Given the description of an element on the screen output the (x, y) to click on. 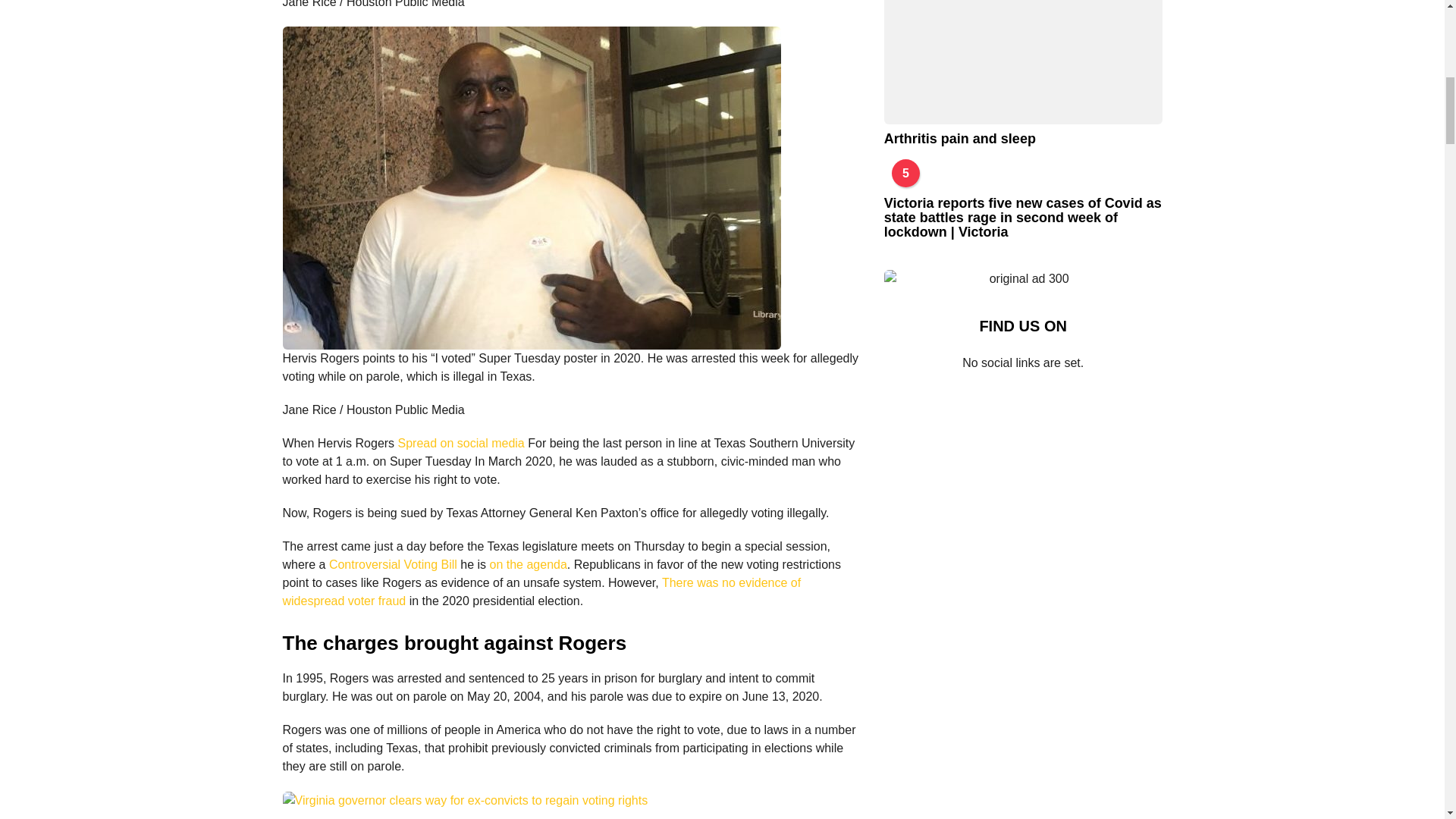
Spread on social media (460, 442)
on the agenda (528, 563)
Controversial Voting Bill (393, 563)
There was no evidence of widespread voter fraud (541, 591)
